Given the description of an element on the screen output the (x, y) to click on. 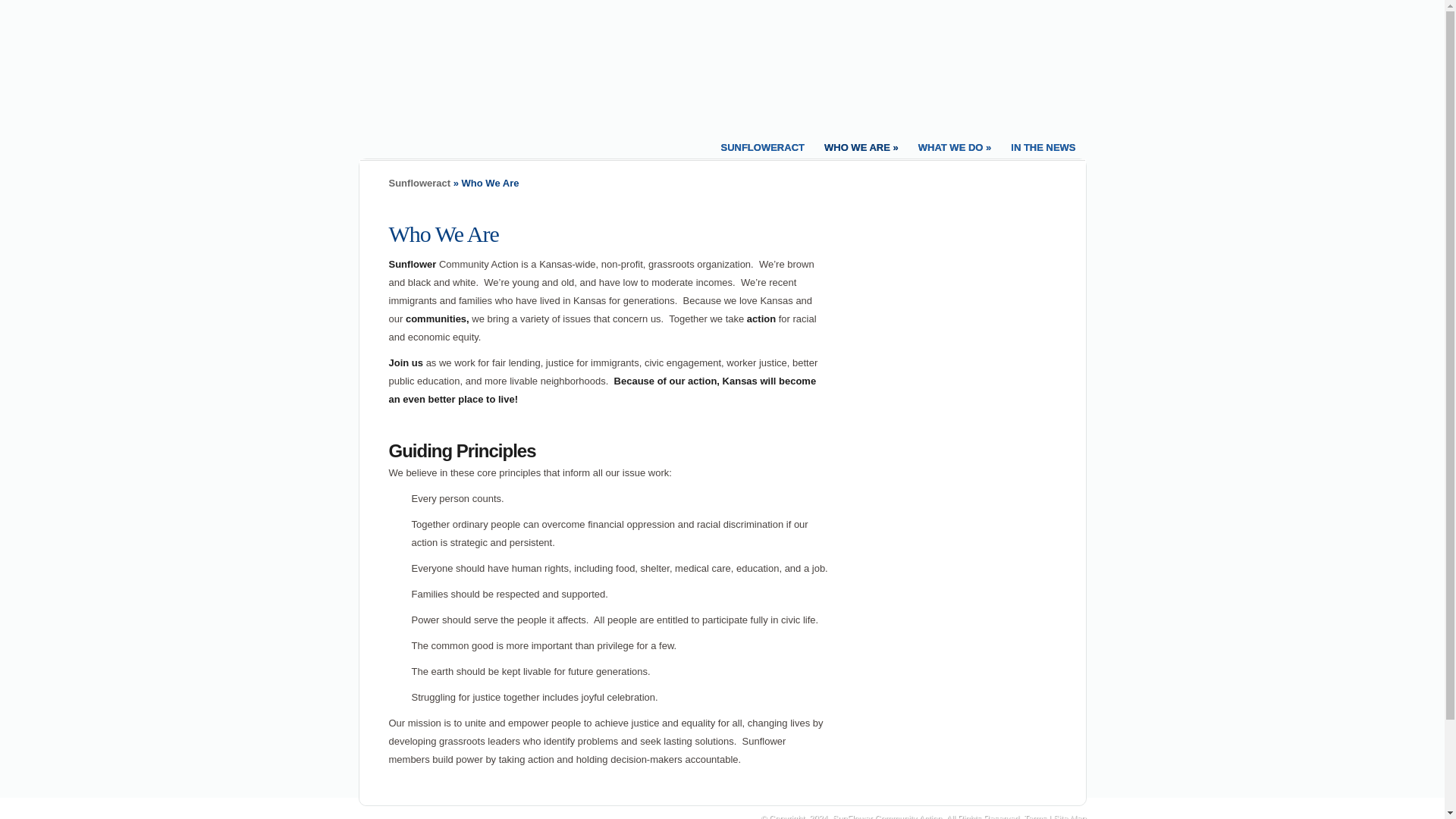
IN THE NEWS (1042, 144)
Site Map (1069, 816)
Terms (1034, 816)
SUNFLOWERACT (762, 144)
Sunfloweract (418, 183)
